Given the description of an element on the screen output the (x, y) to click on. 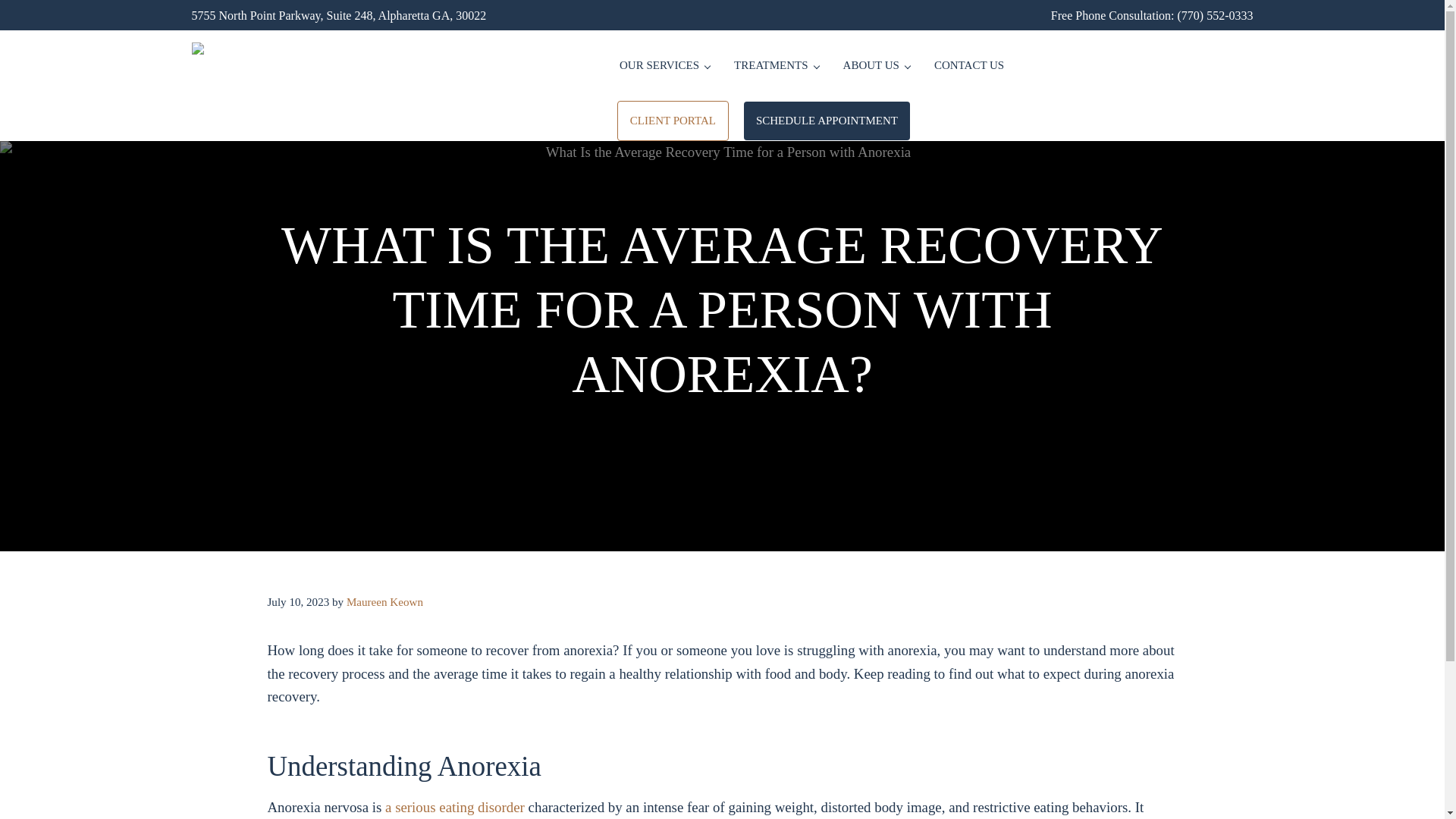
5755 North Point Parkway, Suite 248, Alpharetta GA, 30022 (338, 15)
OUR SERVICES (664, 64)
ABOUT US (876, 64)
TREATMENTS (776, 64)
